Given the description of an element on the screen output the (x, y) to click on. 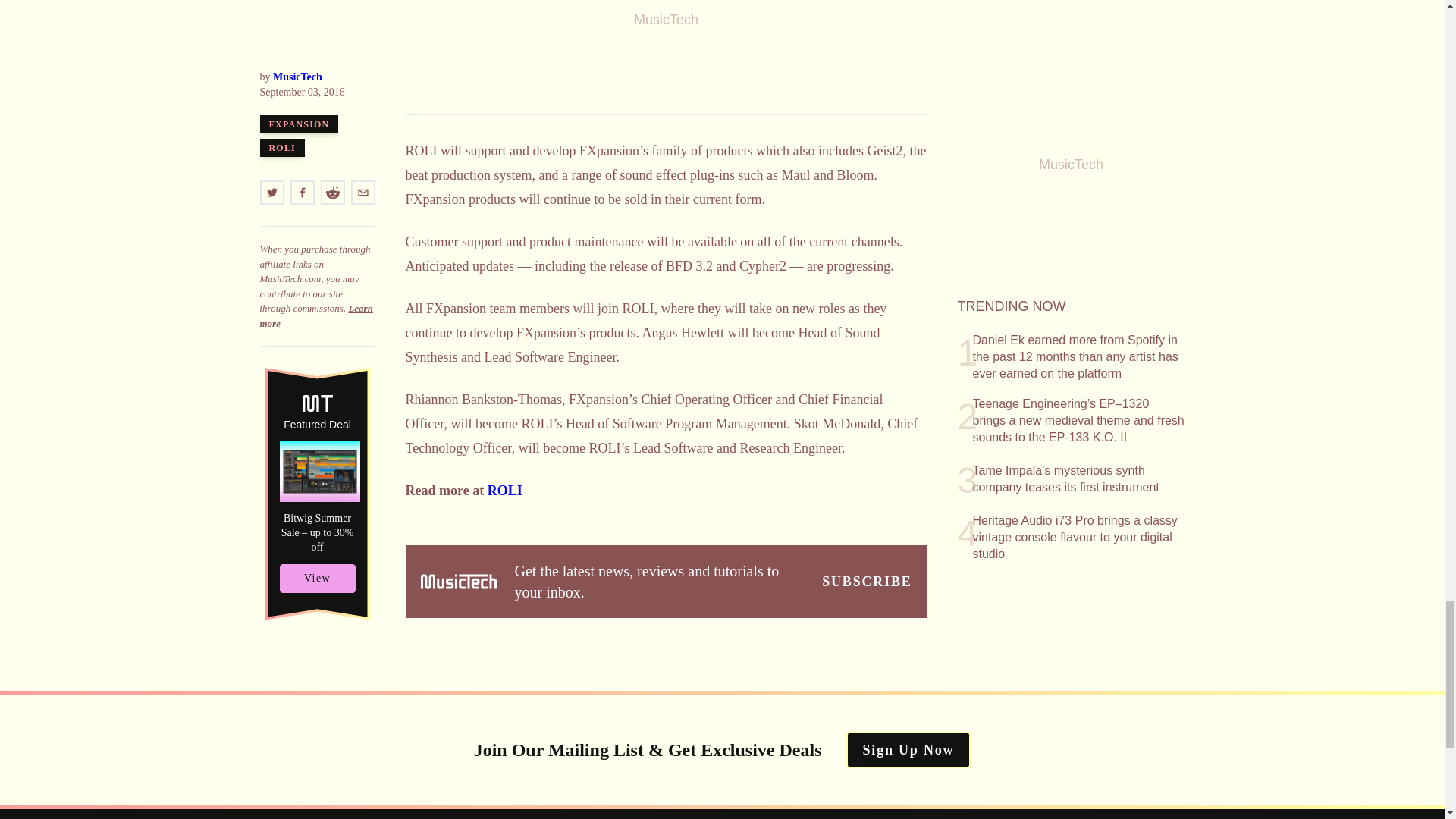
Sign Up Now (908, 750)
ROLI (504, 490)
Join our mailing list (866, 581)
SUBSCRIBE (866, 581)
